Given the description of an element on the screen output the (x, y) to click on. 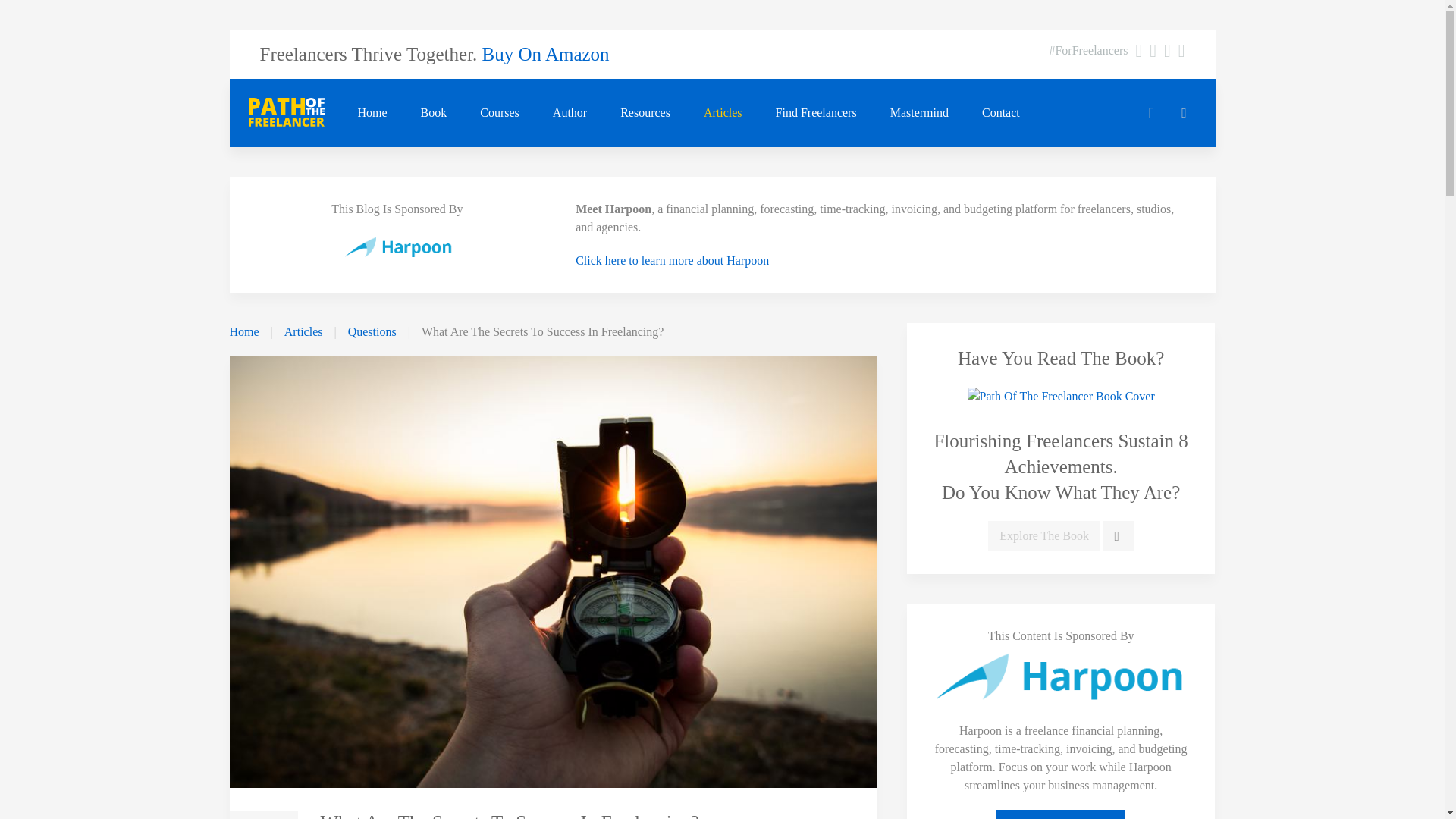
Author (569, 112)
Resources (645, 112)
Contact (1000, 112)
Articles (722, 112)
Mastermind (919, 112)
Courses (499, 112)
Freelancing Resources (645, 112)
Home (372, 112)
Freelancing Book (434, 112)
Buy On Amazon (545, 54)
